Given the description of an element on the screen output the (x, y) to click on. 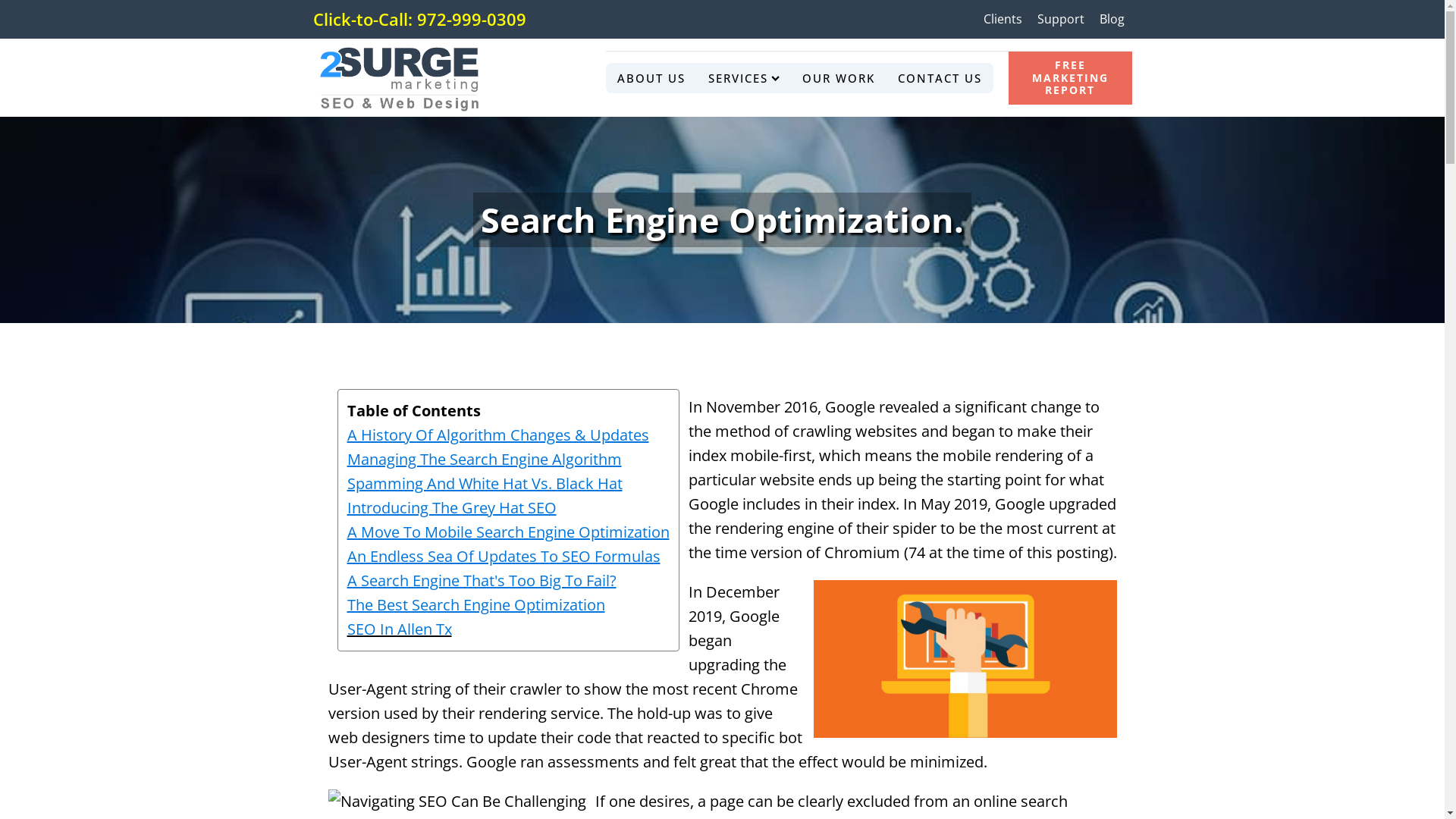
Introducing The Grey Hat SEO Element type: text (508, 507)
Support Element type: text (1060, 18)
A Move To Mobile Search Engine Optimization Element type: text (508, 532)
SERVICES Element type: text (743, 77)
An Endless Sea Of Updates To SEO Formulas Element type: text (508, 556)
A Search Engine That's Too Big To Fail? Element type: text (508, 580)
SEO In Allen Tx Element type: text (399, 628)
OUR WORK Element type: text (838, 77)
CONTACT US Element type: text (939, 77)
FREE MARKETING REPORT Element type: text (1069, 77)
The Best Search Engine Optimization Element type: text (508, 605)
Spamming And White Hat Vs. Black Hat Element type: text (508, 483)
Click-to-Call: 972-999-0309  Element type: text (421, 19)
Managing The Search Engine Algorithm Element type: text (508, 459)
A History Of Algorithm Changes & Updates Element type: text (508, 435)
Blog Element type: text (1111, 18)
Clients Element type: text (1001, 18)
ABOUT US Element type: text (650, 77)
